Given the description of an element on the screen output the (x, y) to click on. 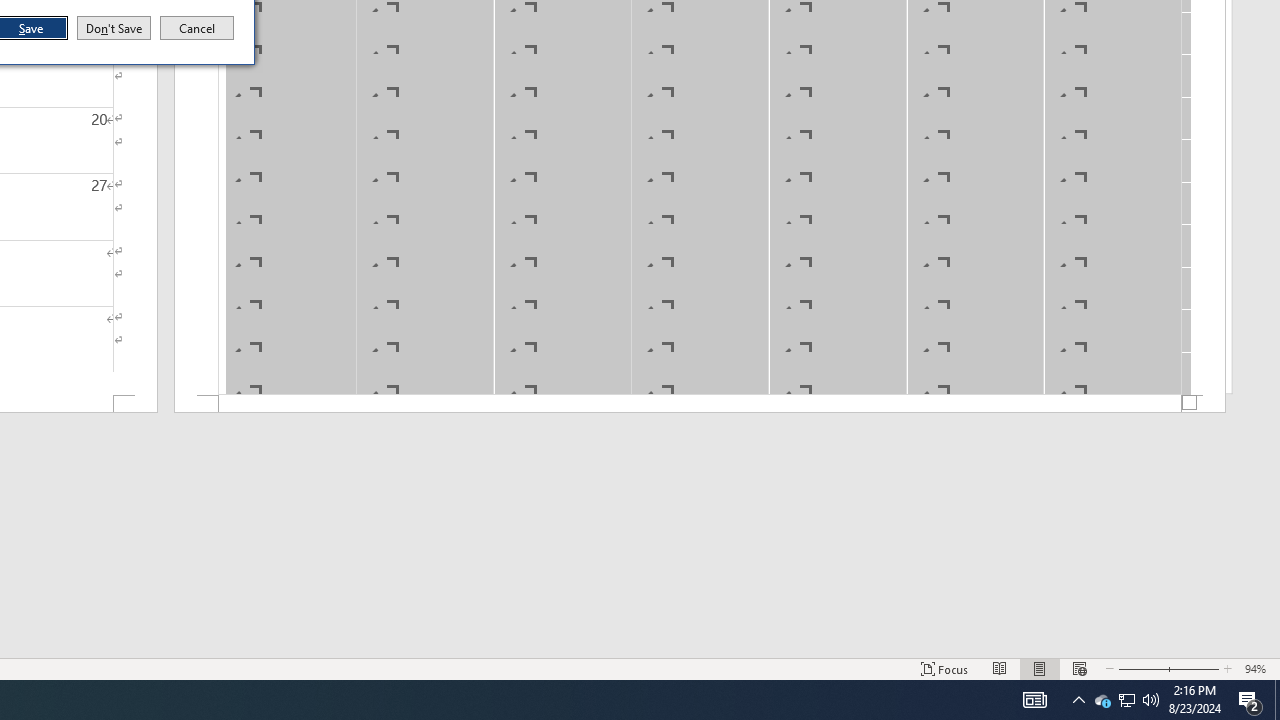
Cancel (197, 27)
User Promoted Notification Area (1102, 699)
